Given the description of an element on the screen output the (x, y) to click on. 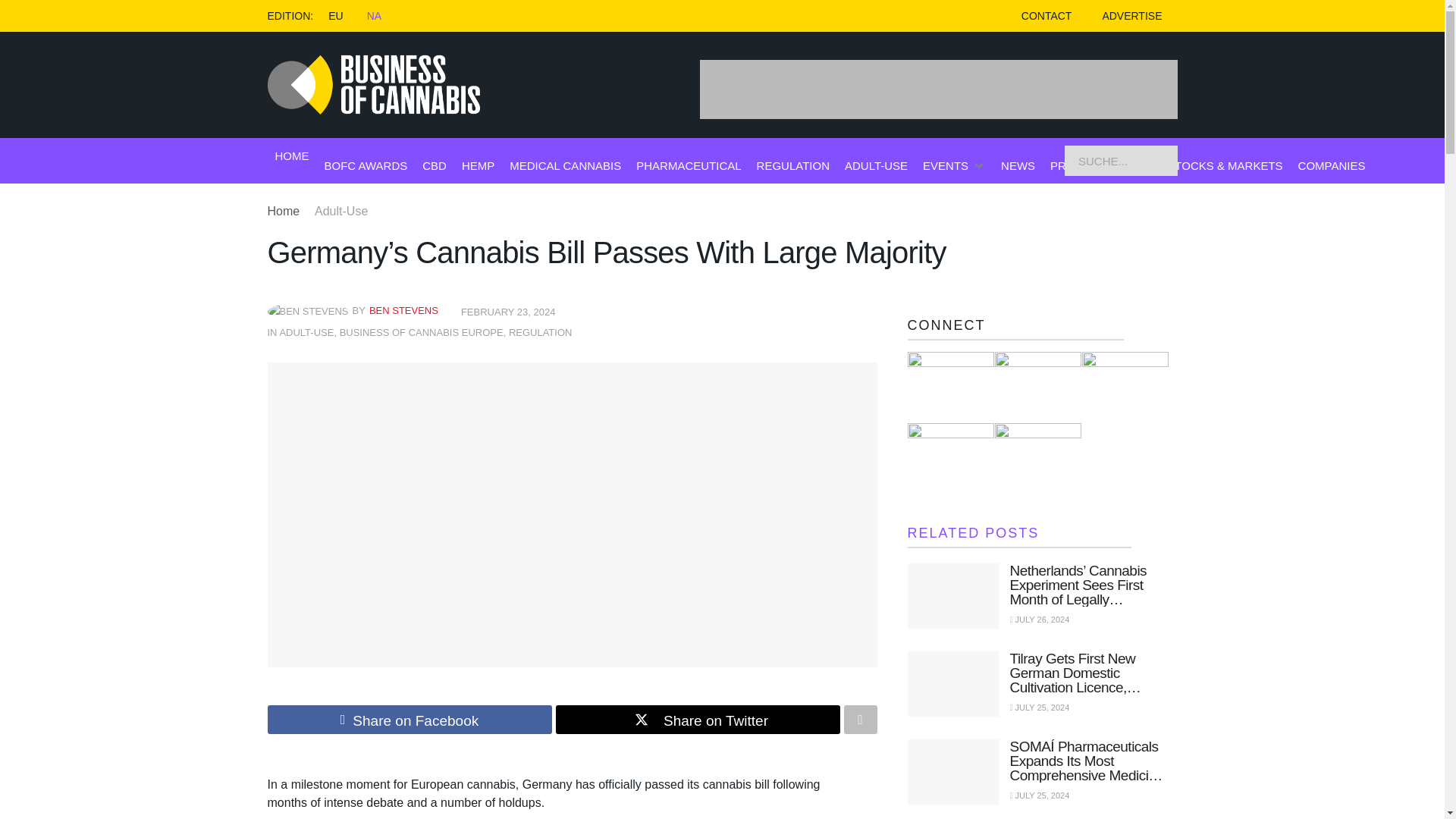
BUSINESS OF CANNABIS EUROPE (421, 332)
COMPANIES (1331, 165)
HEMP (478, 165)
MEDICAL CANNABIS (565, 165)
BEN STEVENS (403, 310)
EVENTS (945, 165)
CBD (434, 165)
EU (335, 15)
Share on Twitter (697, 719)
Share on Facebook (408, 719)
CONTACT (1046, 15)
FEBRUARY 23, 2024 (508, 311)
HOME (291, 156)
ADULT-USE (306, 332)
ADVERTISE (1131, 15)
